Given the description of an element on the screen output the (x, y) to click on. 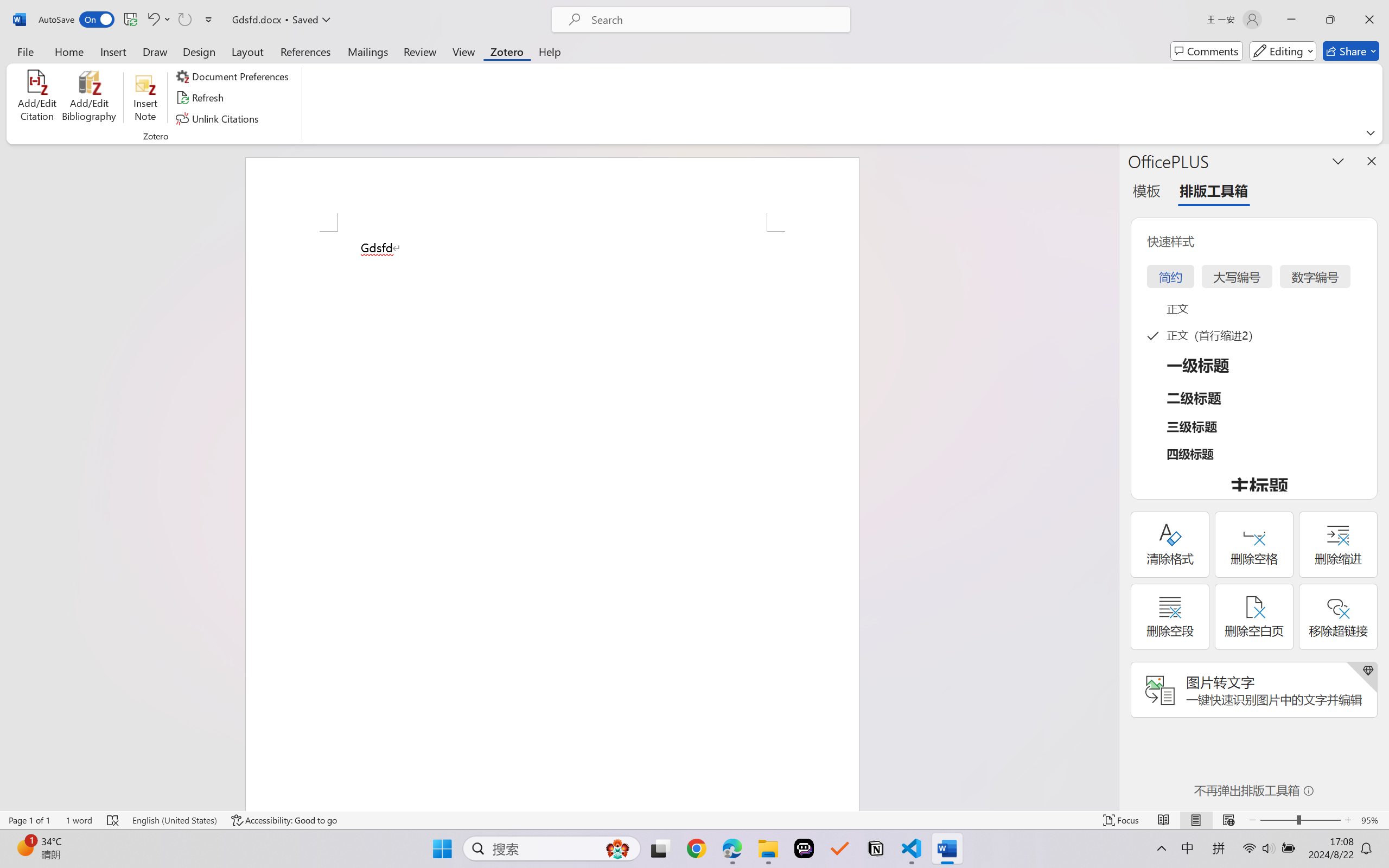
Task Pane Options (1338, 161)
